Given the description of an element on the screen output the (x, y) to click on. 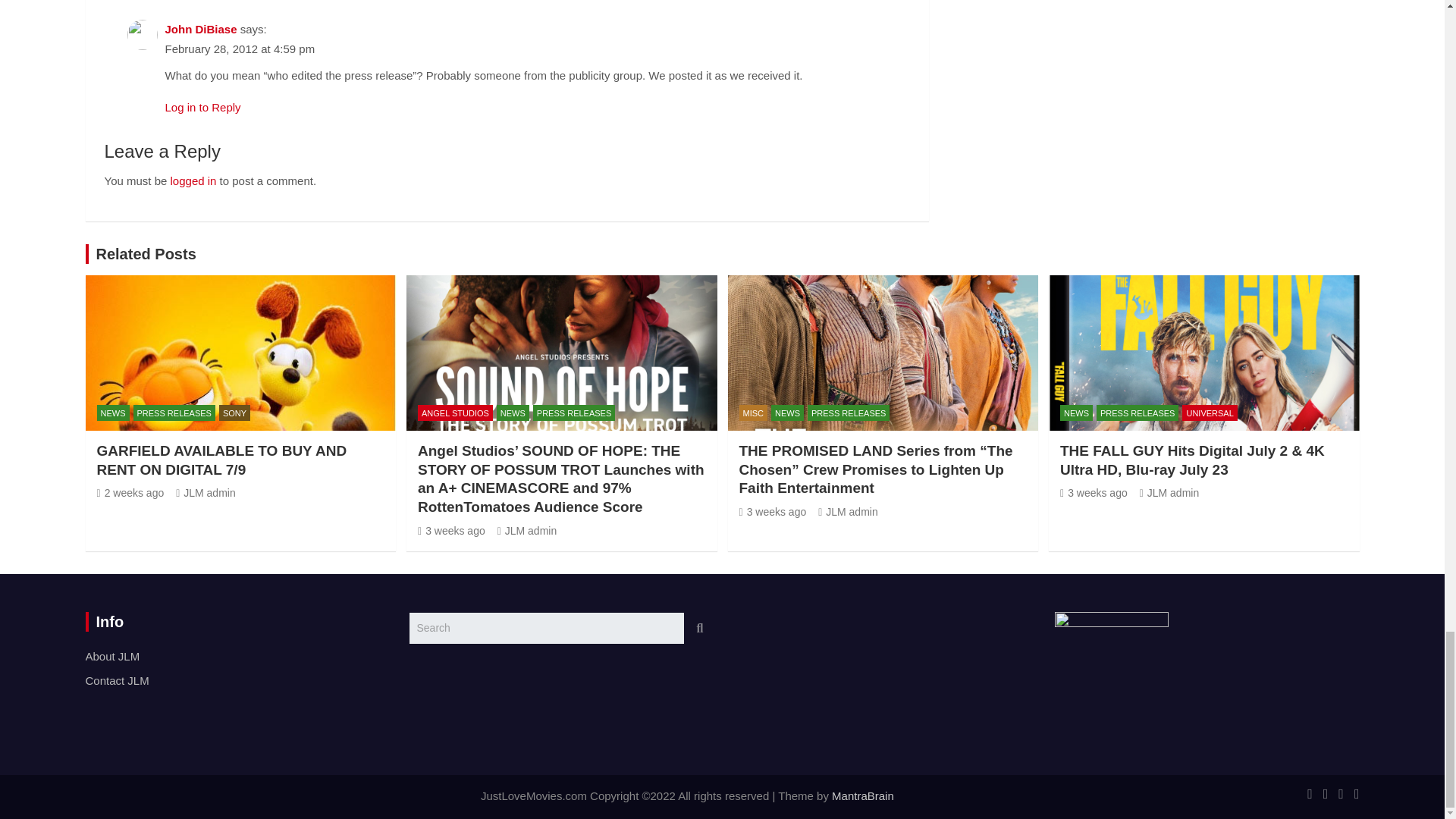
3 weeks ago (772, 511)
Log in to Reply (203, 106)
2 weeks ago (130, 492)
logged in (193, 180)
3 weeks ago (450, 530)
MantraBrain (862, 795)
John DiBiase (201, 29)
3 weeks ago (1092, 492)
February 28, 2012 at 4:59 pm (240, 48)
